Given the description of an element on the screen output the (x, y) to click on. 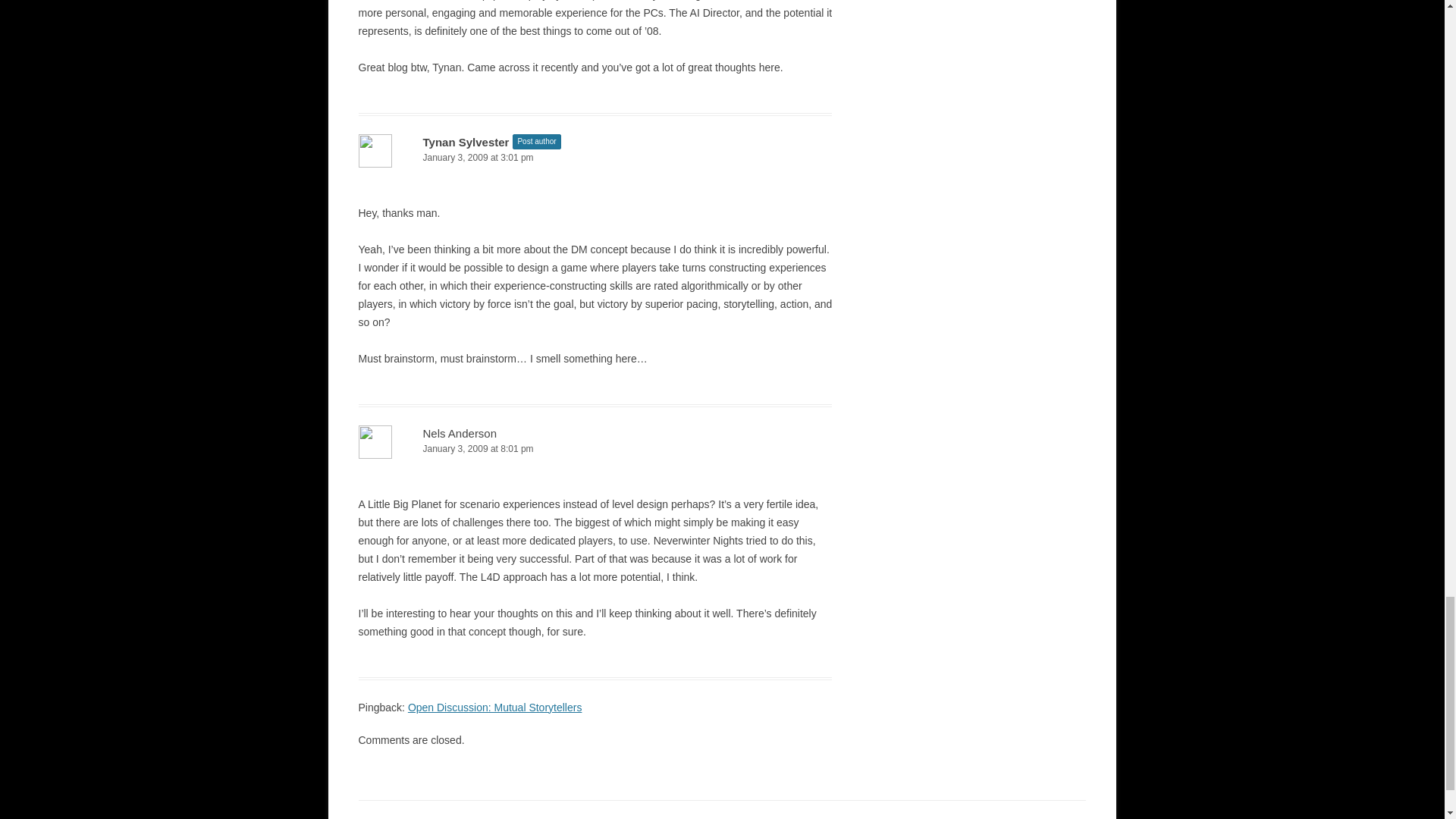
Open Discussion: Mutual Storytellers (494, 707)
Nels Anderson (460, 432)
January 3, 2009 at 3:01 pm (594, 157)
Tynan Sylvester (466, 141)
January 3, 2009 at 8:01 pm (594, 449)
